Given the description of an element on the screen output the (x, y) to click on. 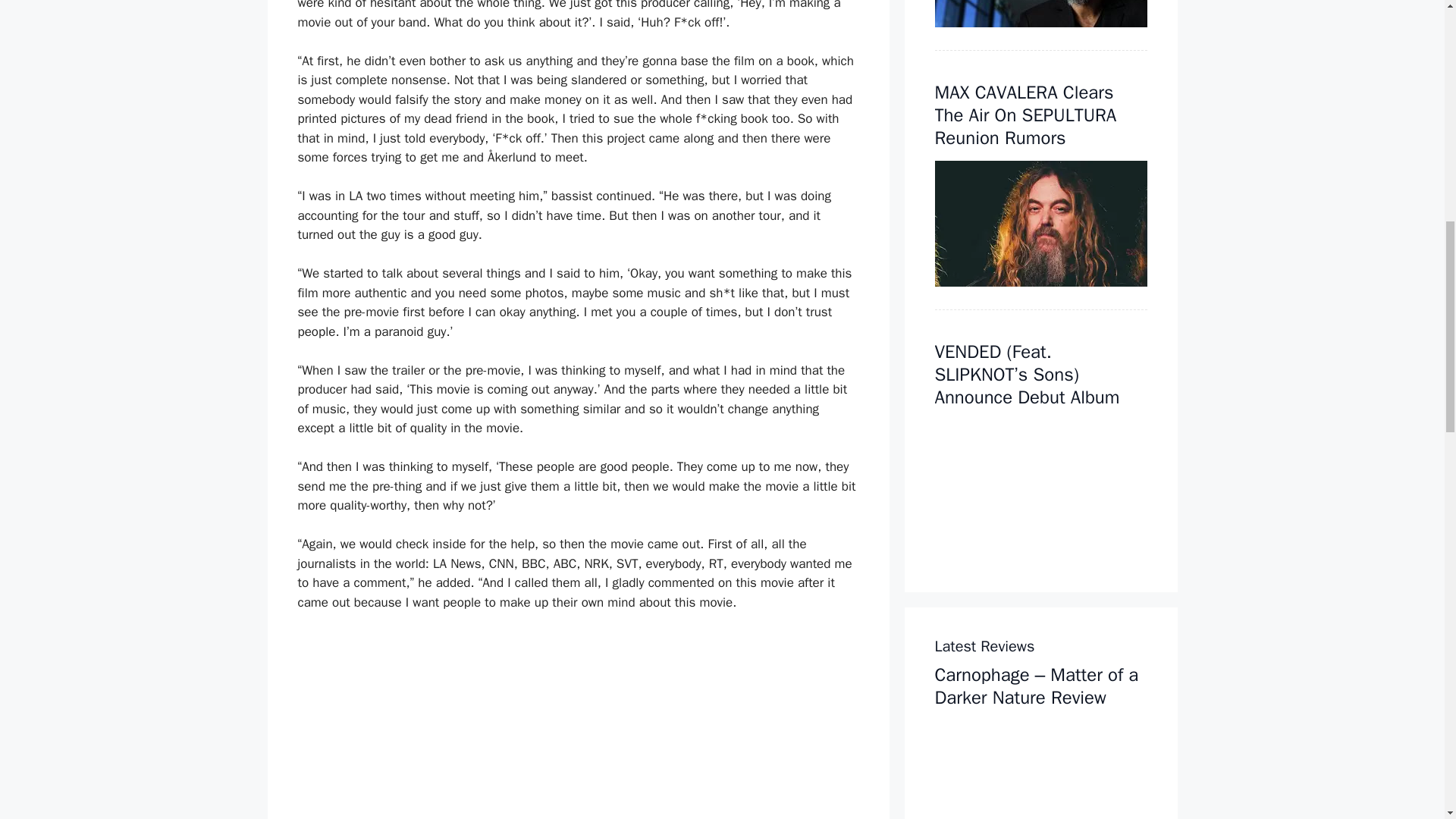
MAX CAVALERA Clears The Air On SEPULTURA Reunion Rumors (1025, 115)
